Given the description of an element on the screen output the (x, y) to click on. 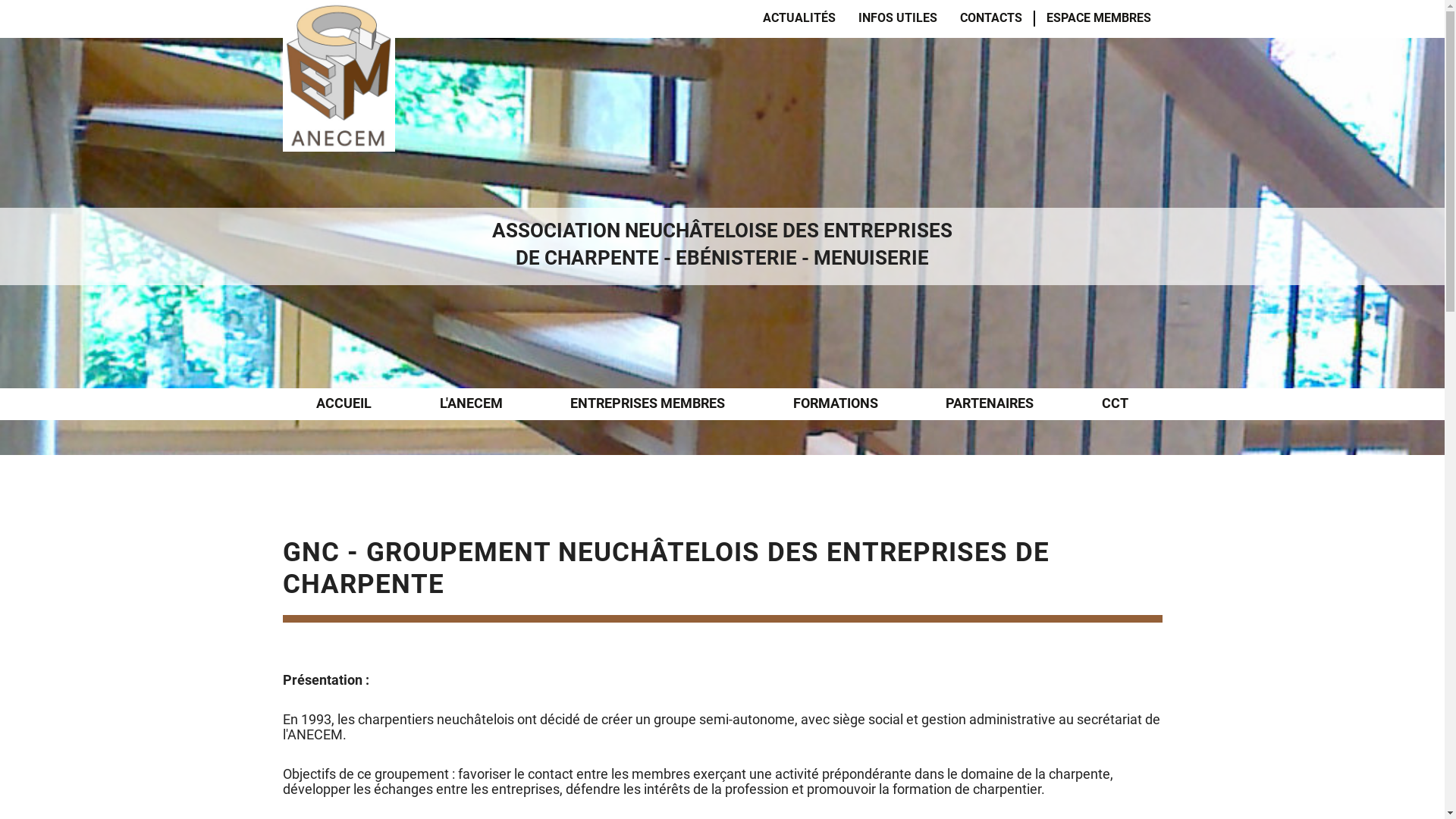
ESPACE MEMBRES Element type: text (1098, 18)
ENTREPRISES MEMBRES Element type: text (647, 403)
PARTENAIRES Element type: text (989, 403)
CCT Element type: text (1114, 403)
L'ANECEM Element type: text (470, 403)
CONTACTS Element type: text (991, 18)
ACCUEIL Element type: text (343, 403)
FORMATIONS Element type: text (835, 403)
INFOS UTILES Element type: text (897, 18)
